Given the description of an element on the screen output the (x, y) to click on. 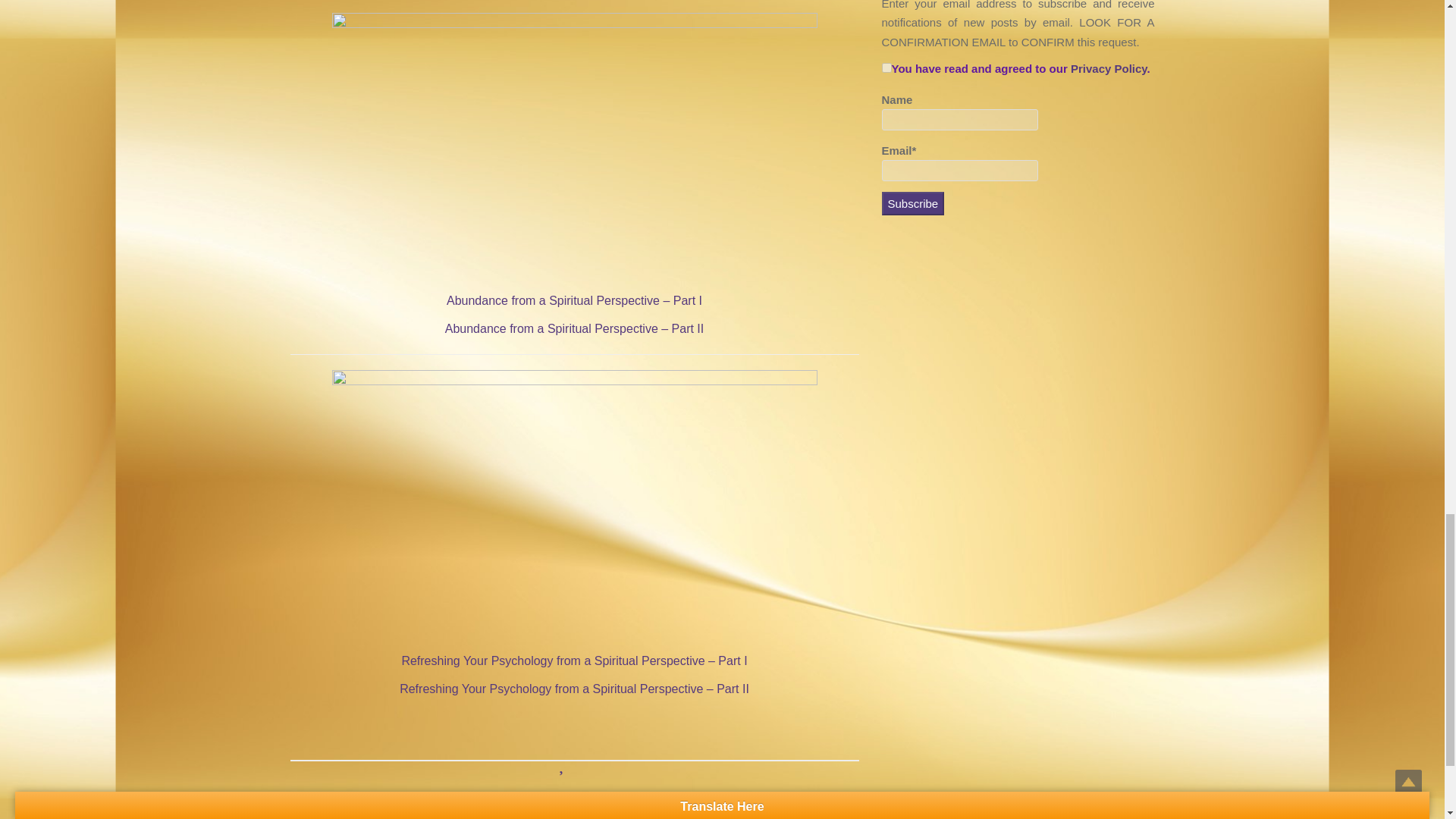
1 (885, 67)
Subscribe (911, 203)
